Given the description of an element on the screen output the (x, y) to click on. 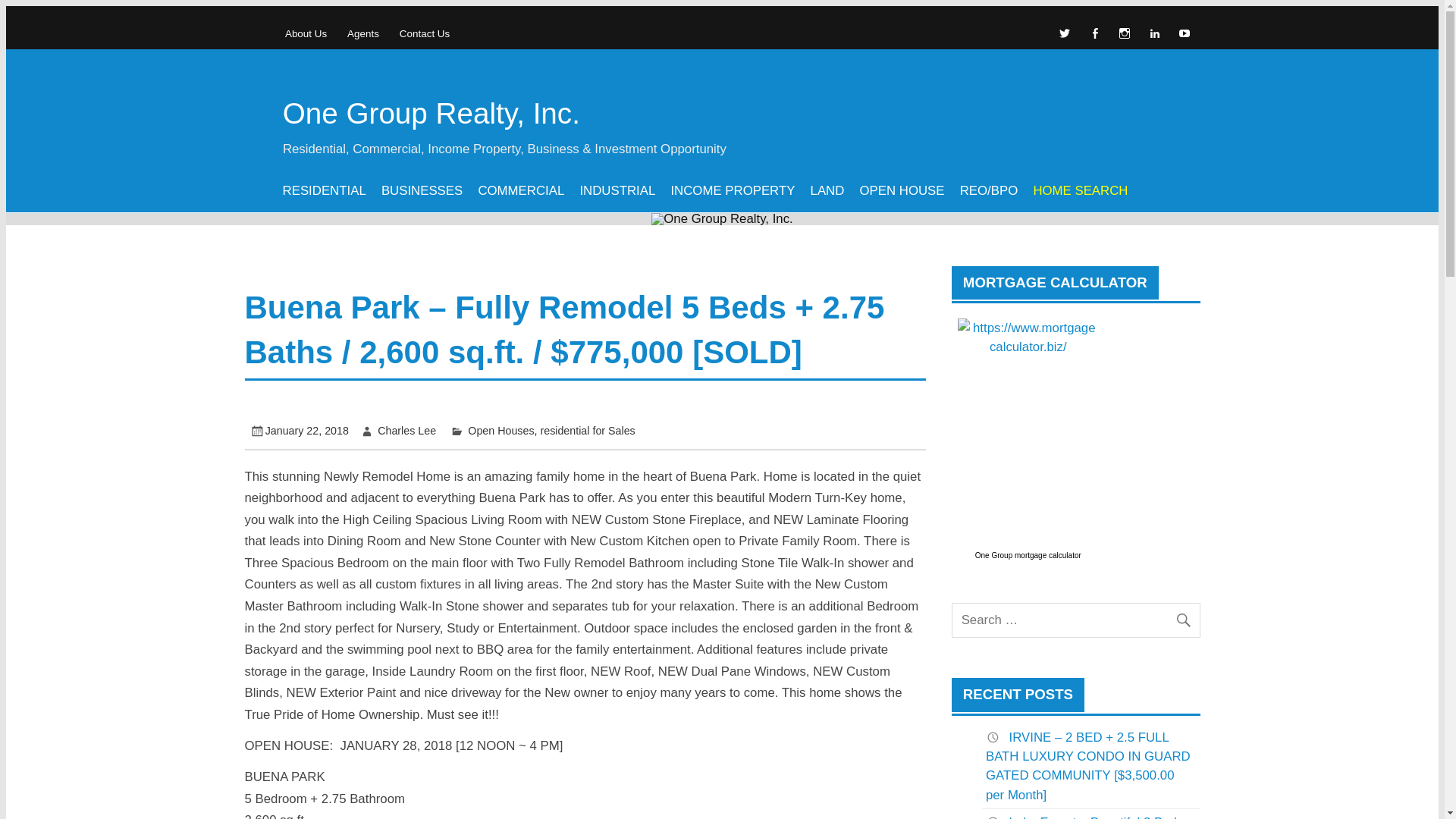
About Us (305, 33)
OPEN HOUSE (901, 191)
INDUSTRIAL (617, 191)
Agents (363, 33)
COMMERCIAL (521, 191)
Charles Lee (406, 430)
RESIDENTIAL (323, 191)
January 22, 2018 (306, 430)
8:18 pm (306, 430)
residential for Sales (587, 430)
View all posts by Charles Lee (406, 430)
HOME SEARCH (1080, 191)
One Group Realty, Inc. (430, 113)
BUSINESSES (422, 191)
